Given the description of an element on the screen output the (x, y) to click on. 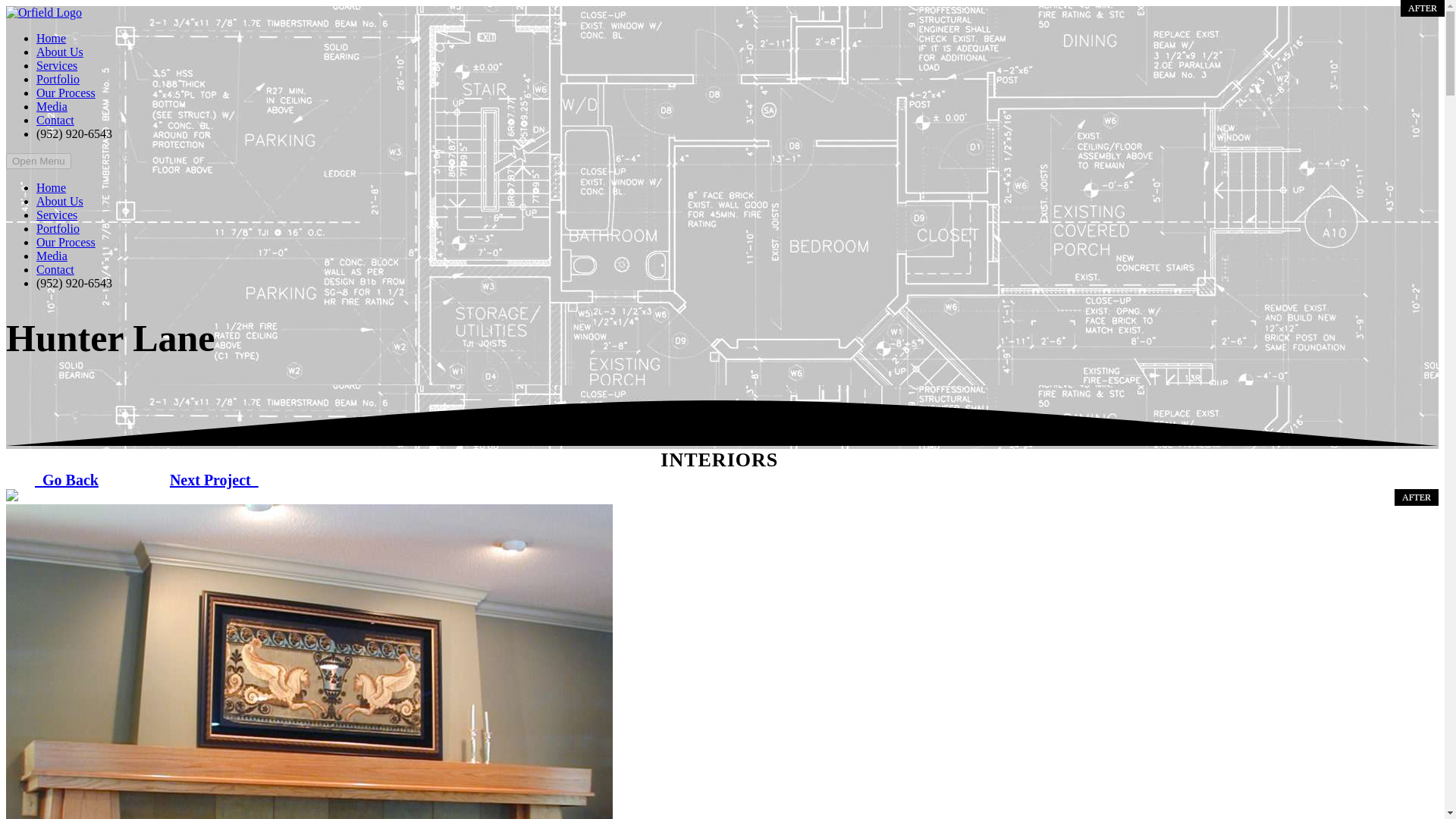
Open Menu (38, 160)
Next Project   (213, 480)
Portfolio (58, 78)
About Us (59, 51)
Our Process (66, 241)
Home (50, 38)
Contact (55, 269)
Portfolio (58, 228)
Media (51, 255)
Services (56, 214)
About Us (59, 201)
Home (50, 187)
  Go Back (66, 480)
Media (51, 106)
Contact (55, 119)
